Given the description of an element on the screen output the (x, y) to click on. 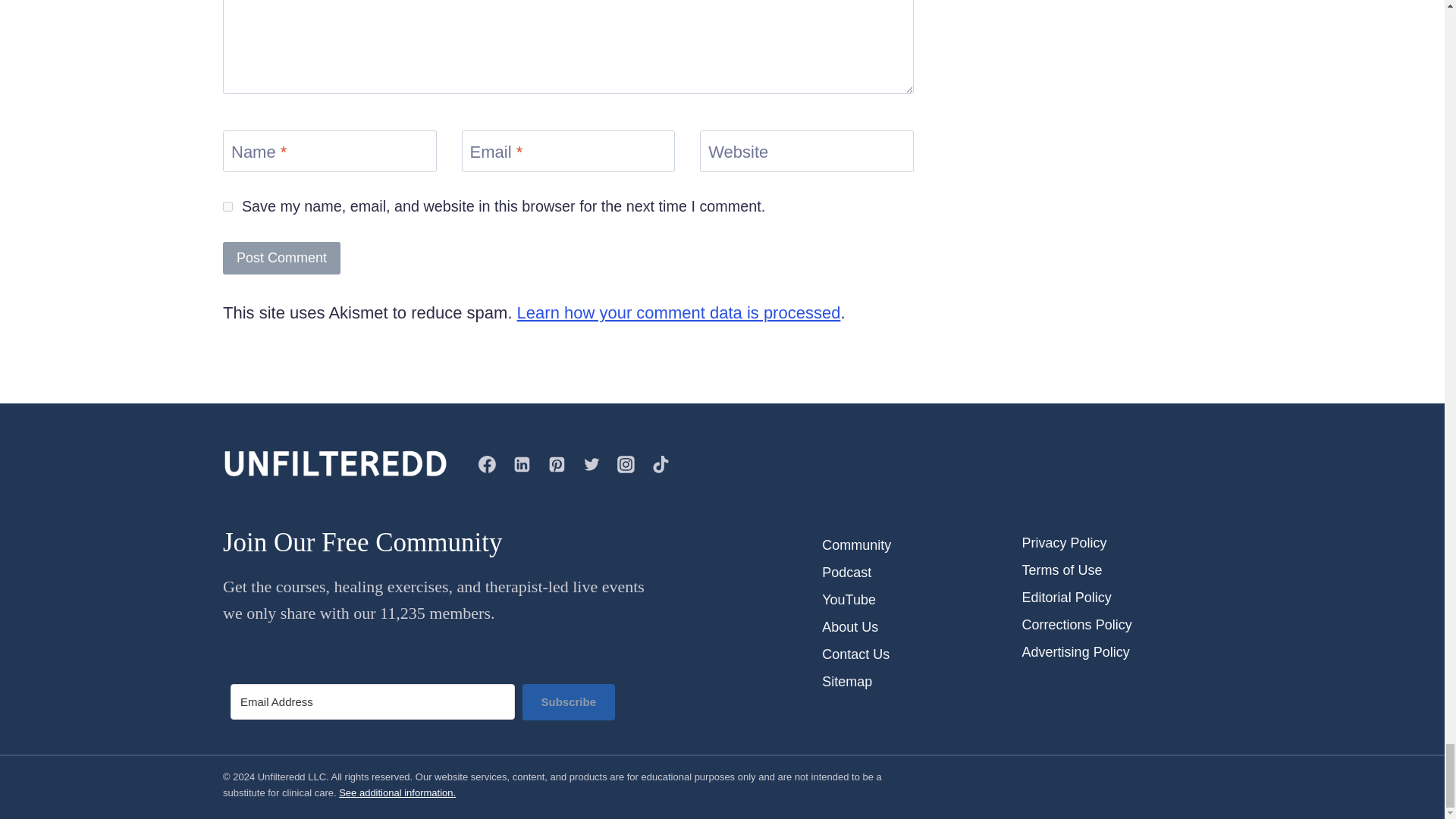
Podcast (922, 572)
Subscribe (568, 701)
Post Comment (281, 257)
yes (227, 206)
Learn how your comment data is processed (678, 312)
YouTube (922, 599)
Post Comment (281, 257)
Community (922, 544)
